Given the description of an element on the screen output the (x, y) to click on. 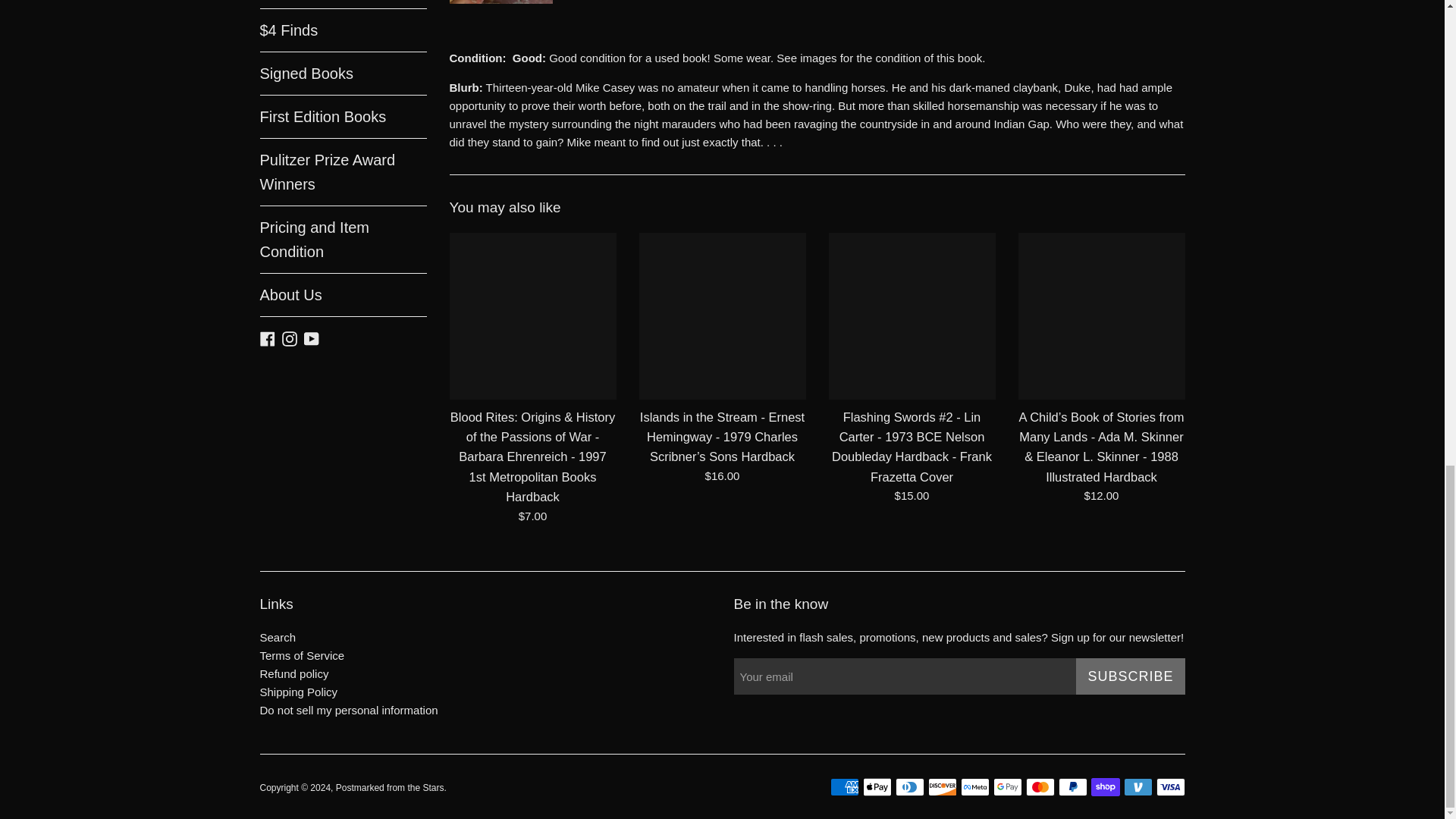
Postmarked from the Stars on YouTube (311, 336)
Postmarked from the Stars on Instagram (289, 336)
Diners Club (909, 787)
Signed Books (342, 73)
Apple Pay (877, 787)
American Express (844, 787)
Discover (942, 787)
Venmo (1138, 787)
Meta Pay (973, 787)
Visa (1170, 787)
